Given the description of an element on the screen output the (x, y) to click on. 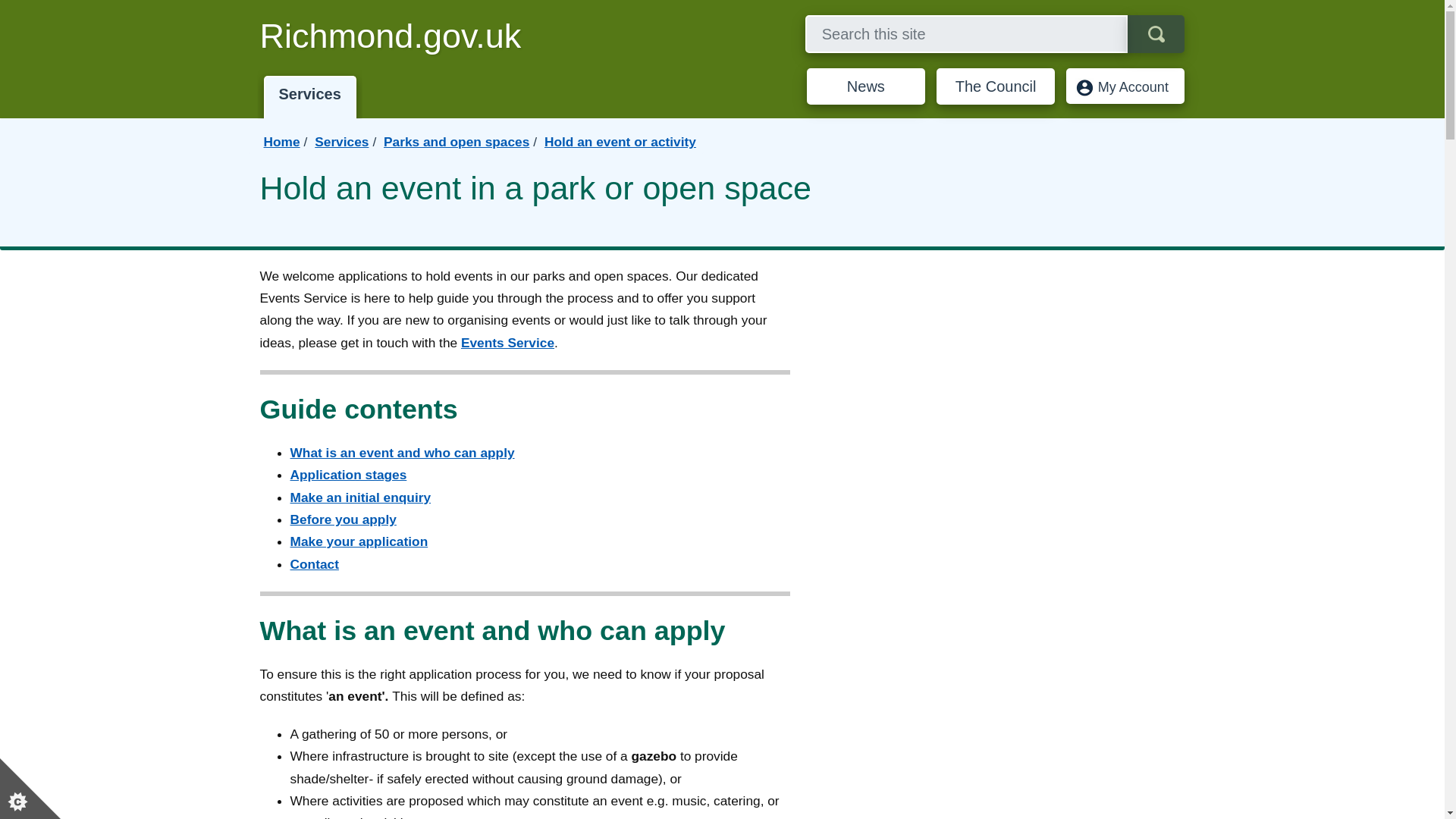
Application stages (348, 474)
What is an event and who can apply (402, 452)
News (865, 85)
Make your application (358, 540)
Events Service (507, 342)
Services (309, 97)
Before you apply (342, 519)
The Council (995, 85)
Hold an event or activity (619, 141)
Richmond.gov.uk (390, 37)
My Account (1125, 85)
Services (341, 141)
Contact (314, 563)
Home (281, 141)
Parks and open spaces (456, 141)
